Given the description of an element on the screen output the (x, y) to click on. 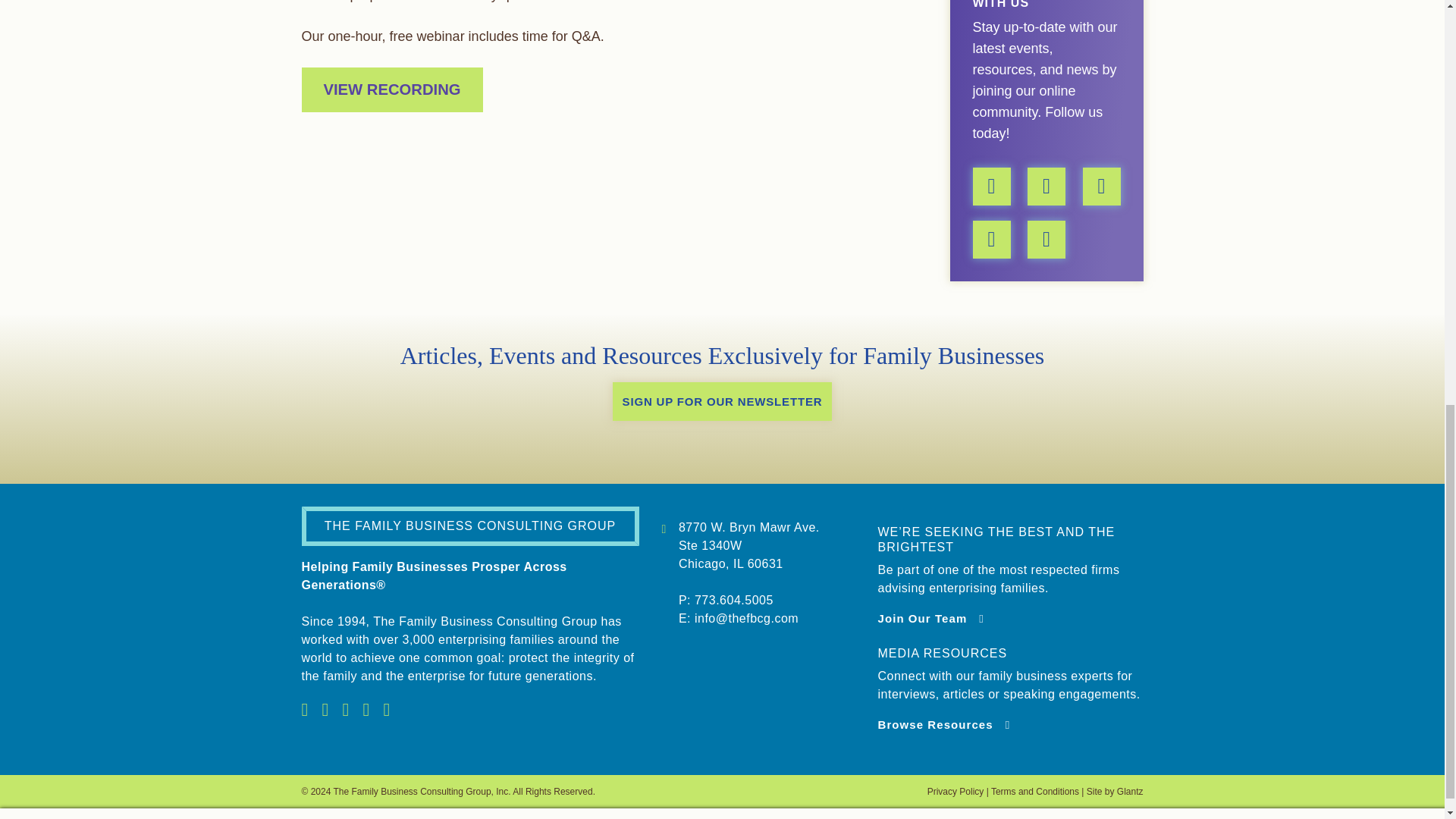
Follow us on X (1046, 238)
Follow us on LinkedIn (1102, 185)
Follow us on YouTube (1046, 185)
Follow us on Facebook (991, 238)
Follow us on Instagram (991, 185)
